Given the description of an element on the screen output the (x, y) to click on. 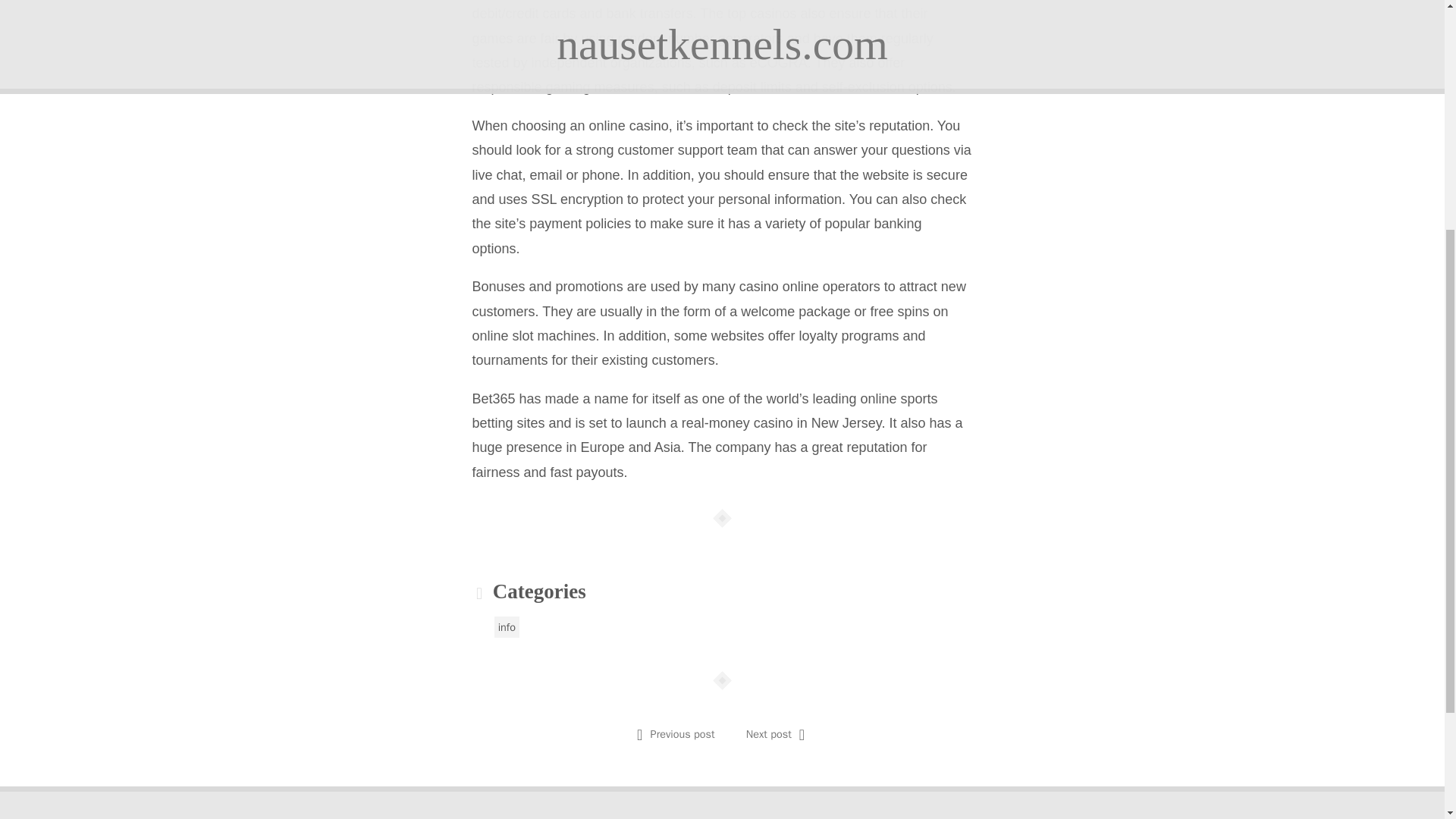
Previous post (682, 734)
info (507, 627)
Next post (768, 734)
